Given the description of an element on the screen output the (x, y) to click on. 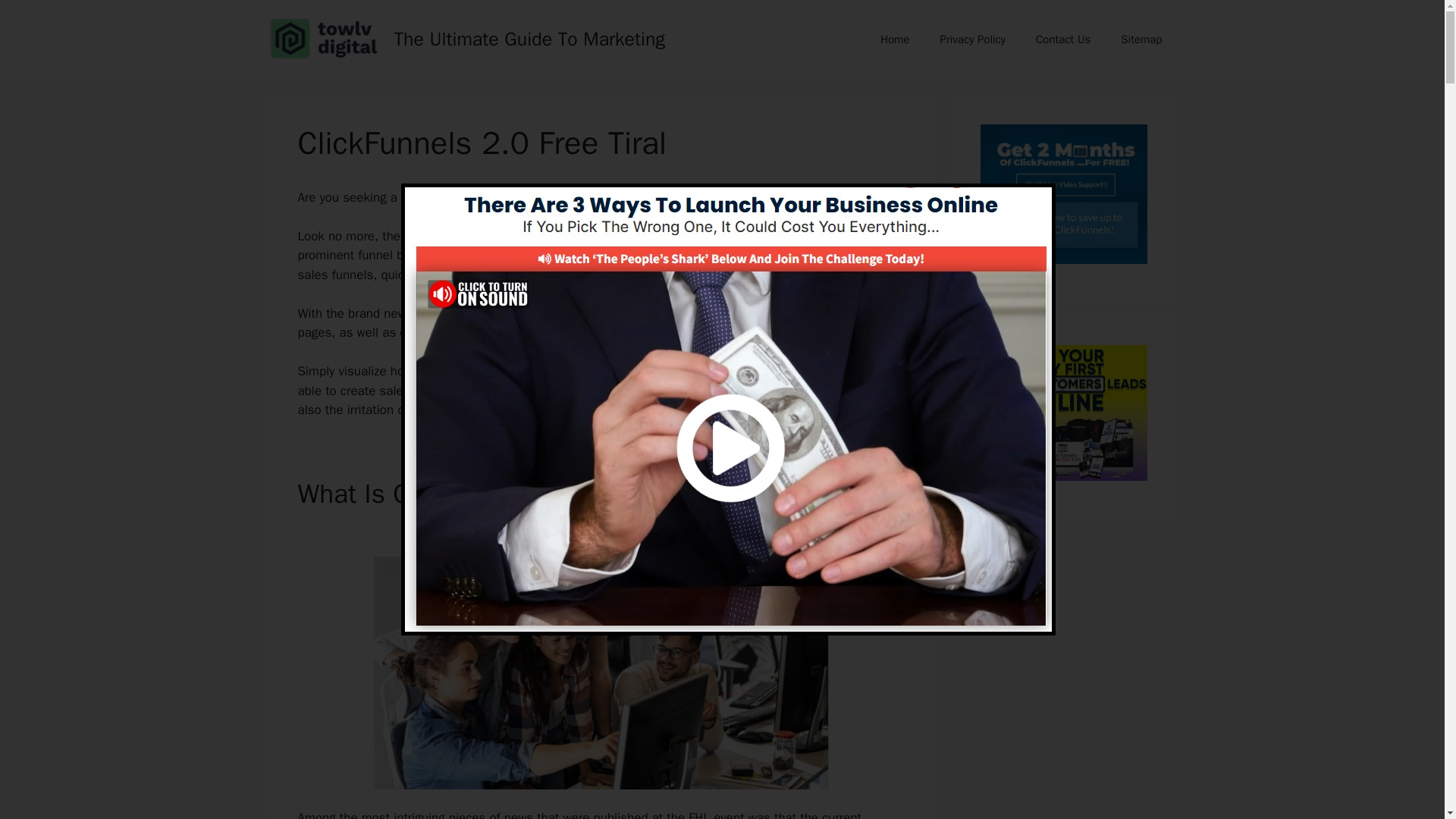
Contact Us (1062, 39)
Home (894, 39)
The Ultimate Guide To Marketing (529, 38)
Sitemap (1140, 39)
Privacy Policy (972, 39)
